Given the description of an element on the screen output the (x, y) to click on. 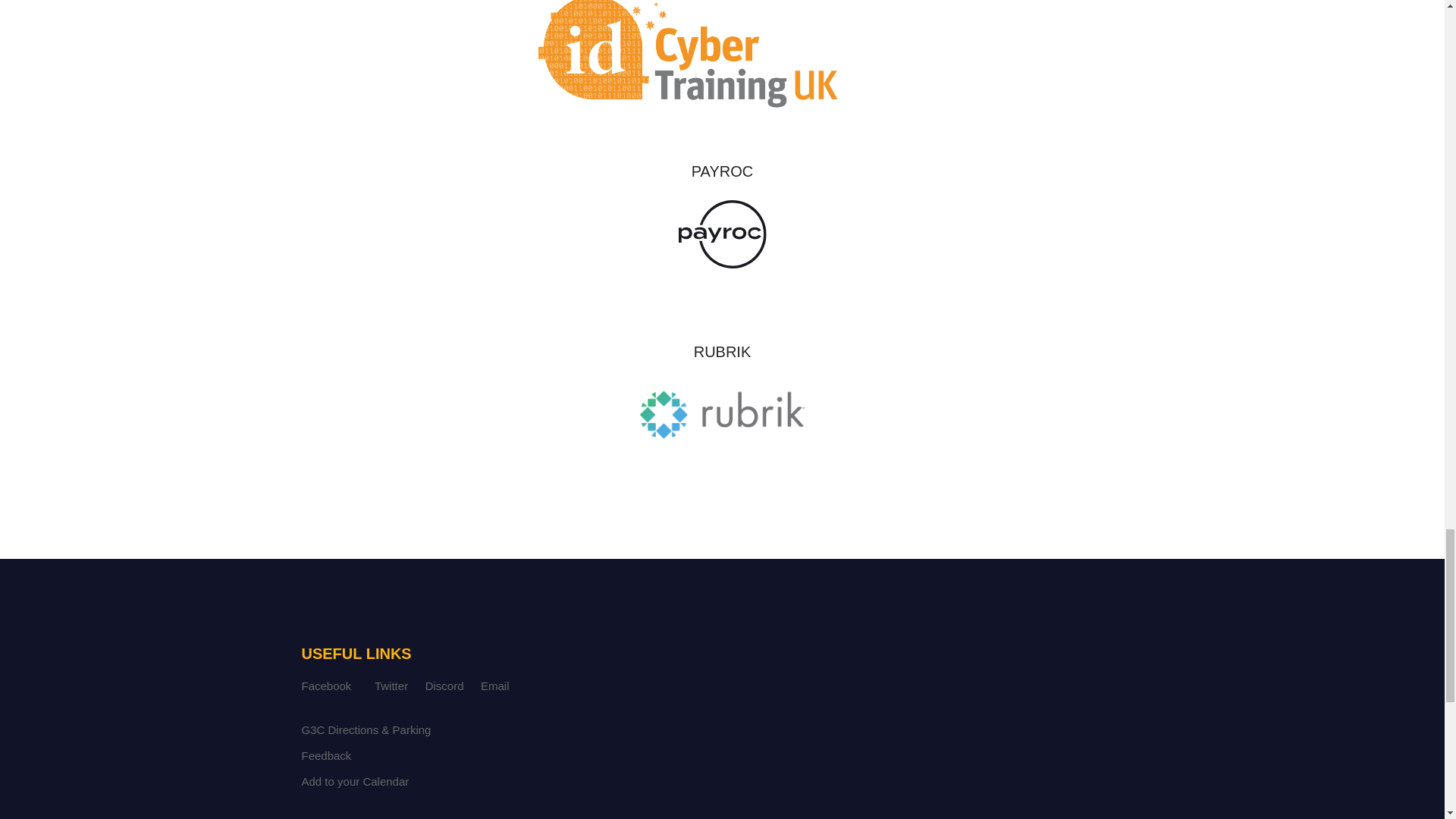
Twitter (390, 685)
Facebook (326, 685)
Email (494, 685)
Discord (444, 685)
Add to your Calendar (355, 780)
Feedback (326, 755)
